Given the description of an element on the screen output the (x, y) to click on. 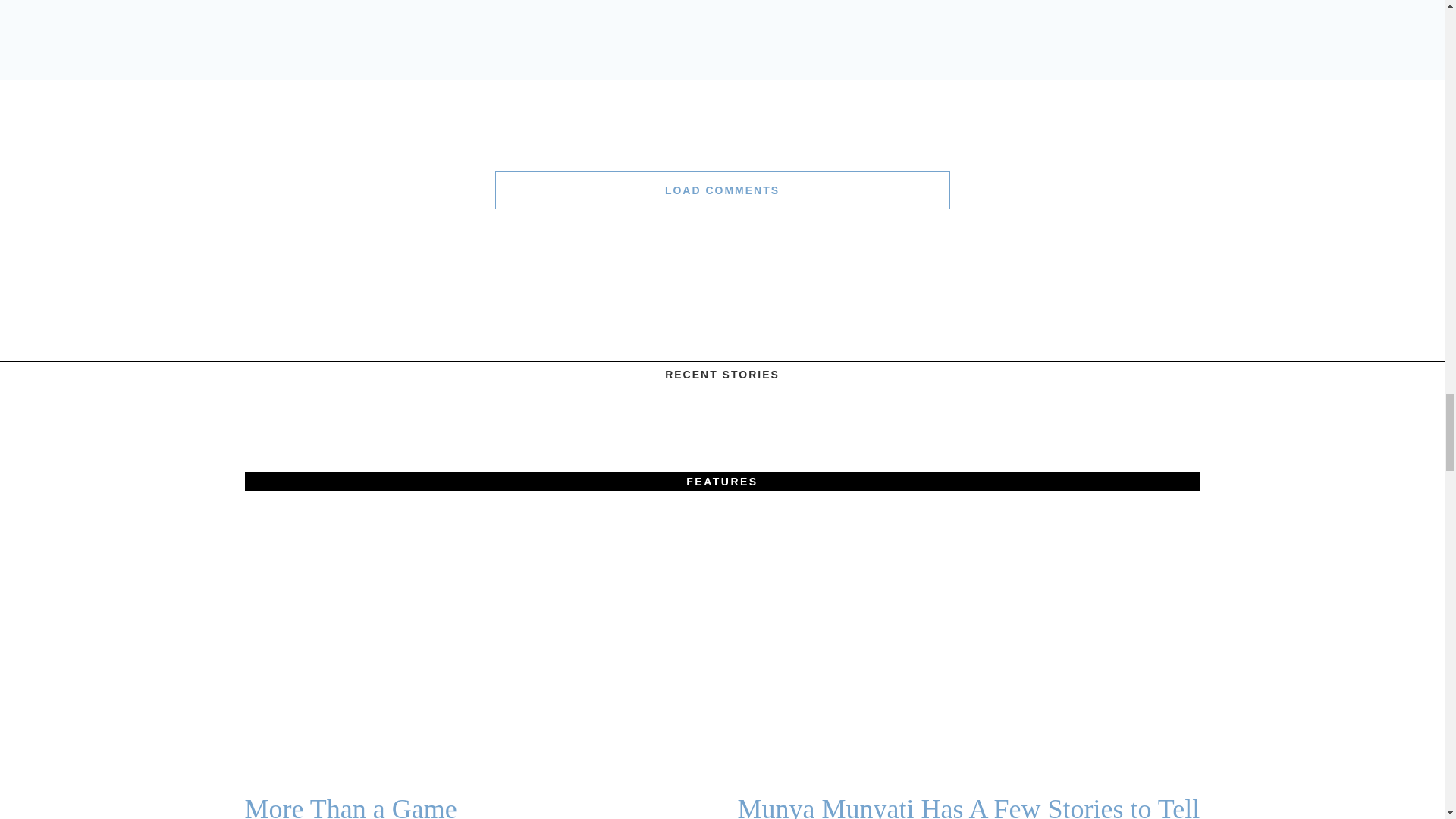
FEATURES (721, 481)
More Than a Game (475, 806)
Features (721, 481)
Munya Munyati Has A Few Stories to Tell (967, 806)
LOAD COMMENTS (722, 190)
